Given the description of an element on the screen output the (x, y) to click on. 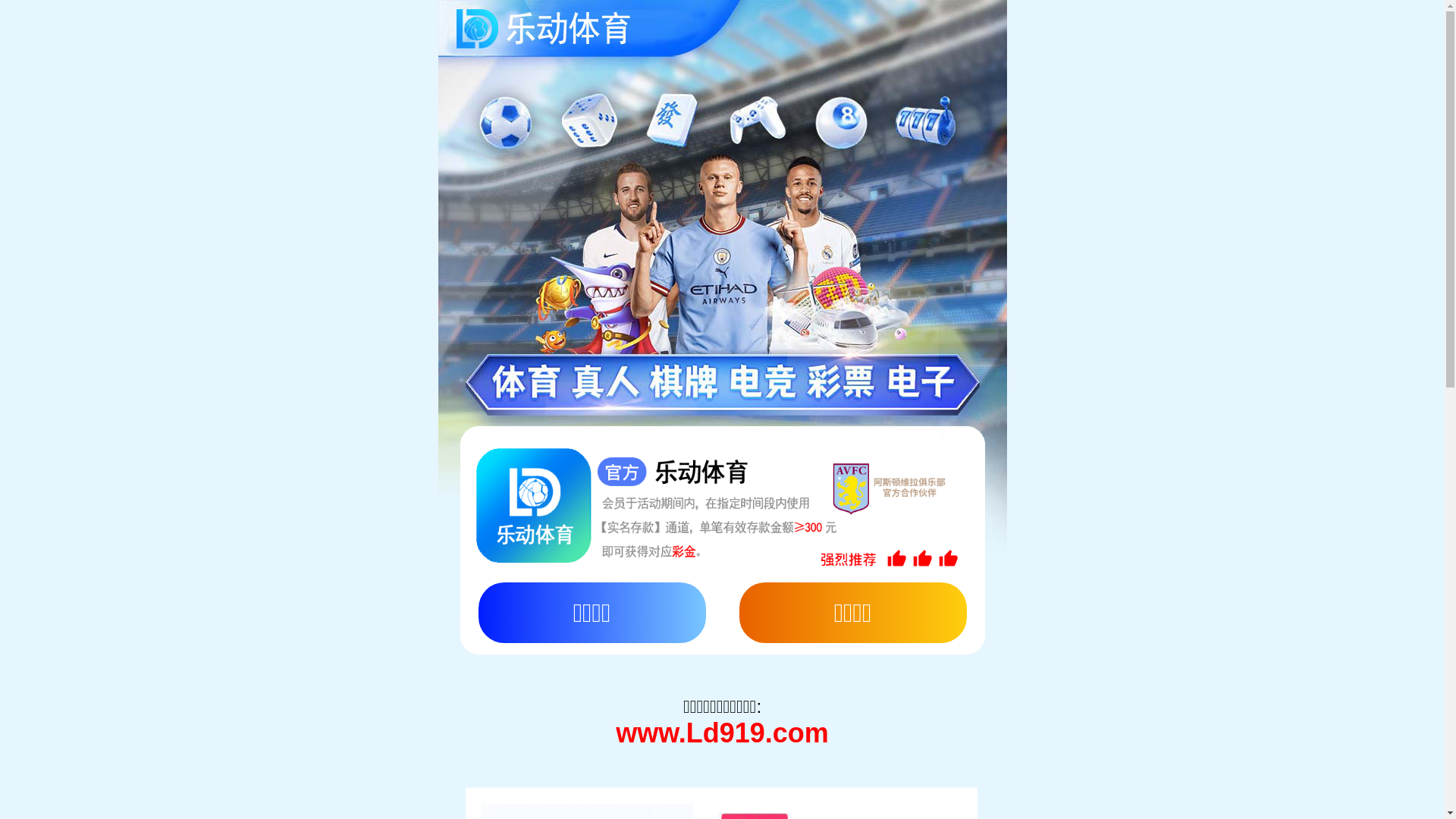
English Element type: text (1348, 30)
| Element type: text (1319, 30)
